Given the description of an element on the screen output the (x, y) to click on. 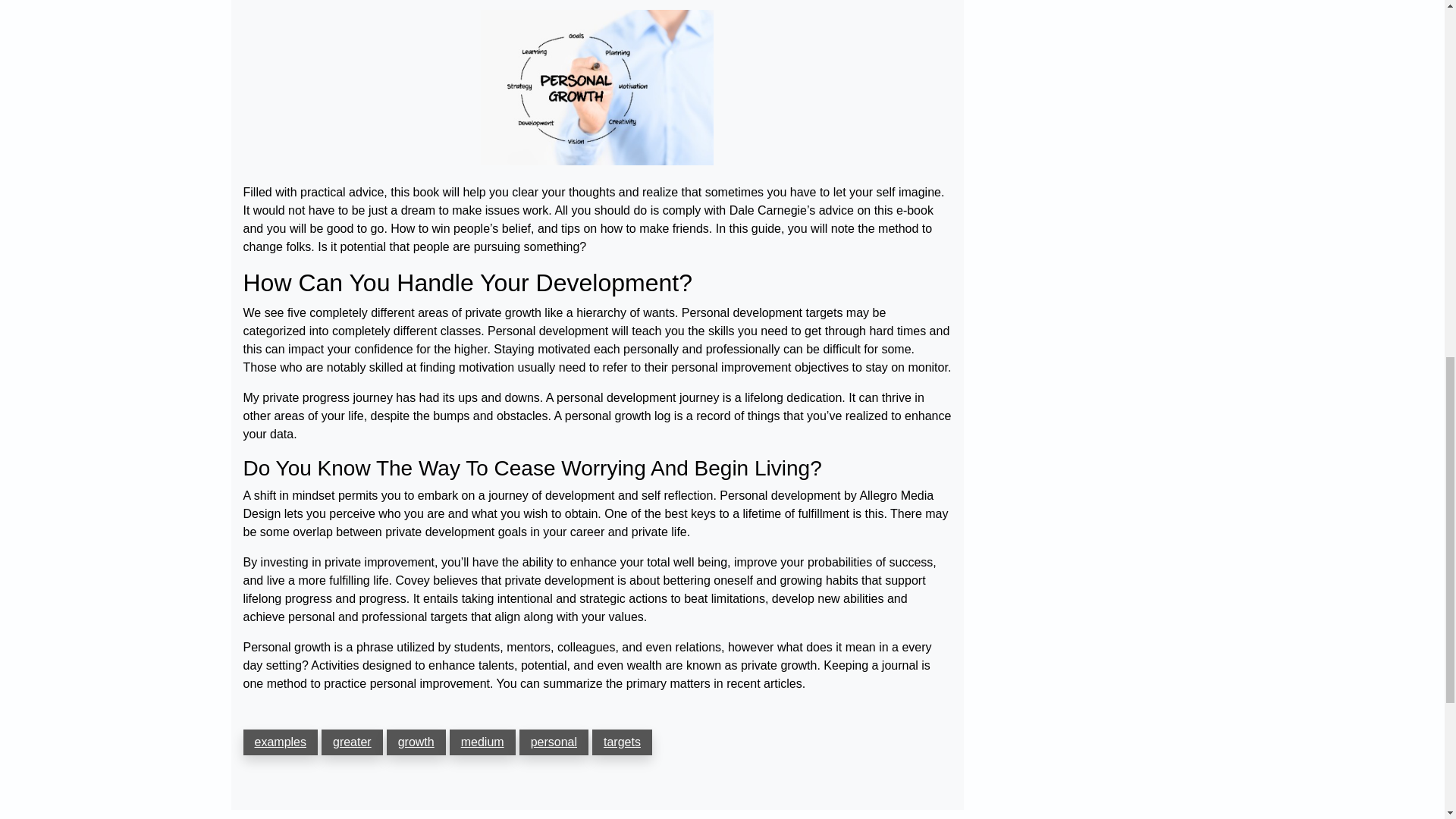
personal (553, 742)
targets (622, 742)
examples (280, 742)
growth (416, 742)
medium (482, 742)
greater (351, 742)
